Given the description of an element on the screen output the (x, y) to click on. 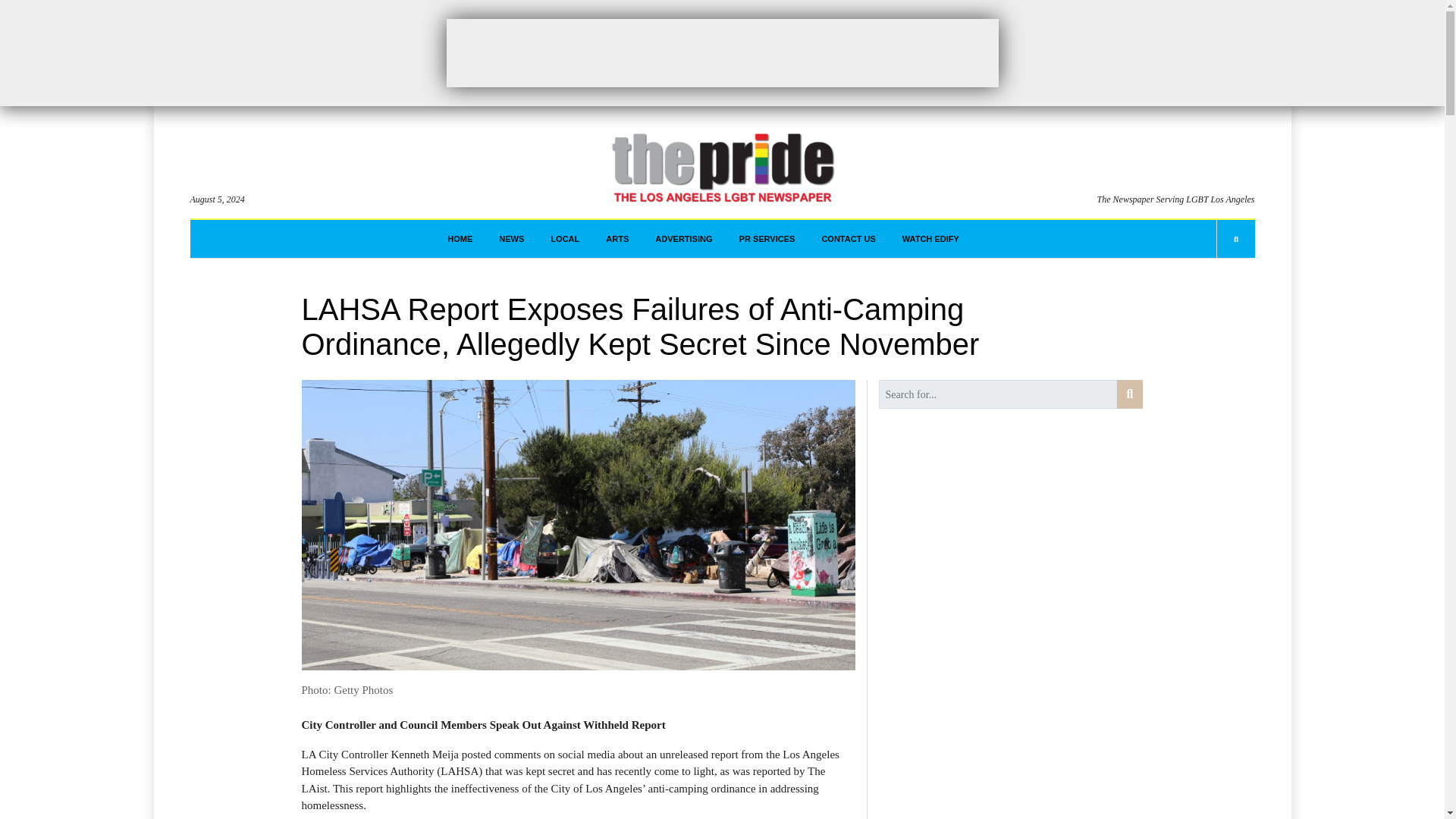
CONTACT US (848, 238)
3rd party ad content (721, 52)
PR SERVICES (766, 238)
WATCH EDIFY (930, 238)
ADVERTISING (683, 238)
